Given the description of an element on the screen output the (x, y) to click on. 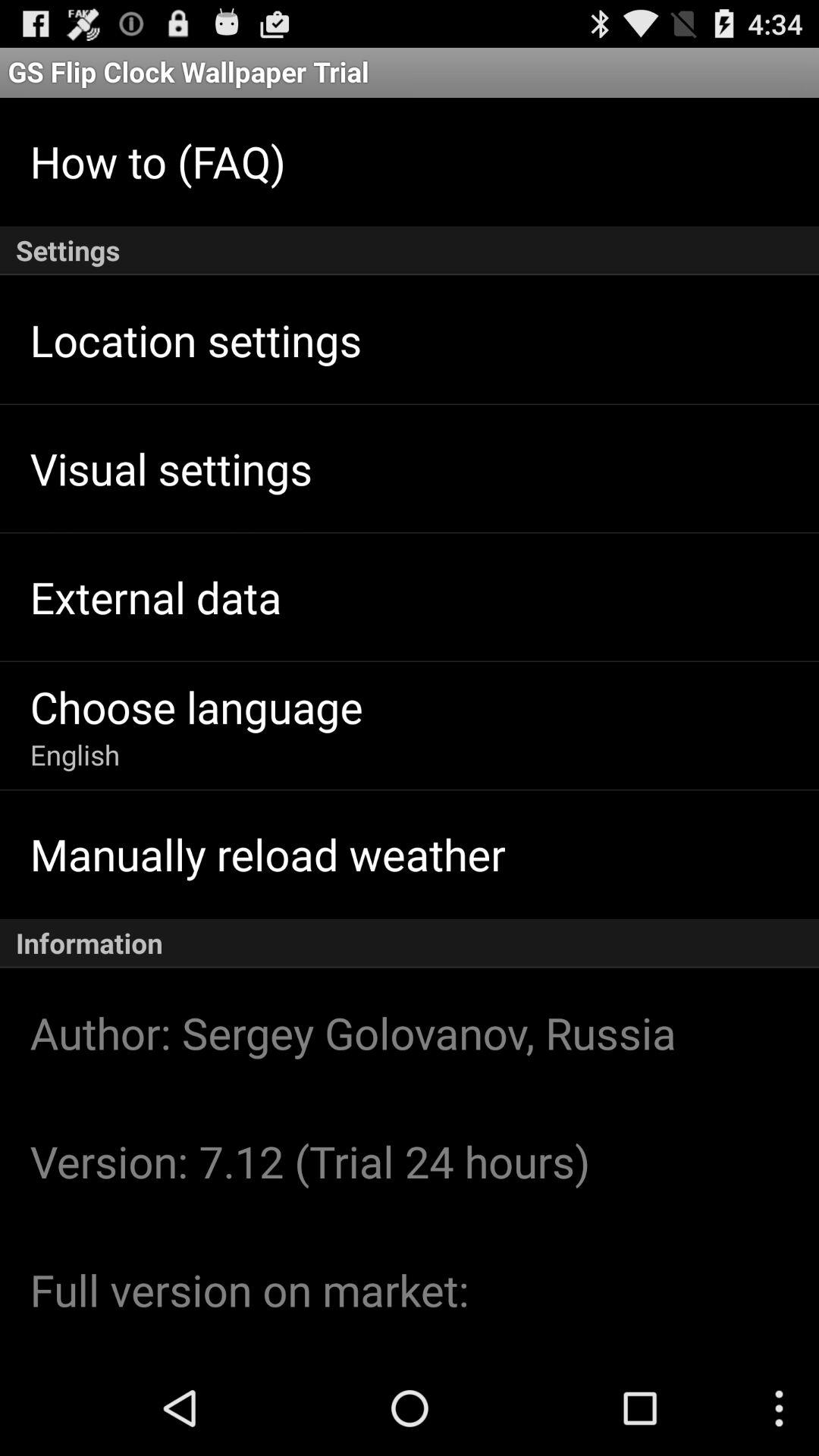
choose item above the information (267, 853)
